Given the description of an element on the screen output the (x, y) to click on. 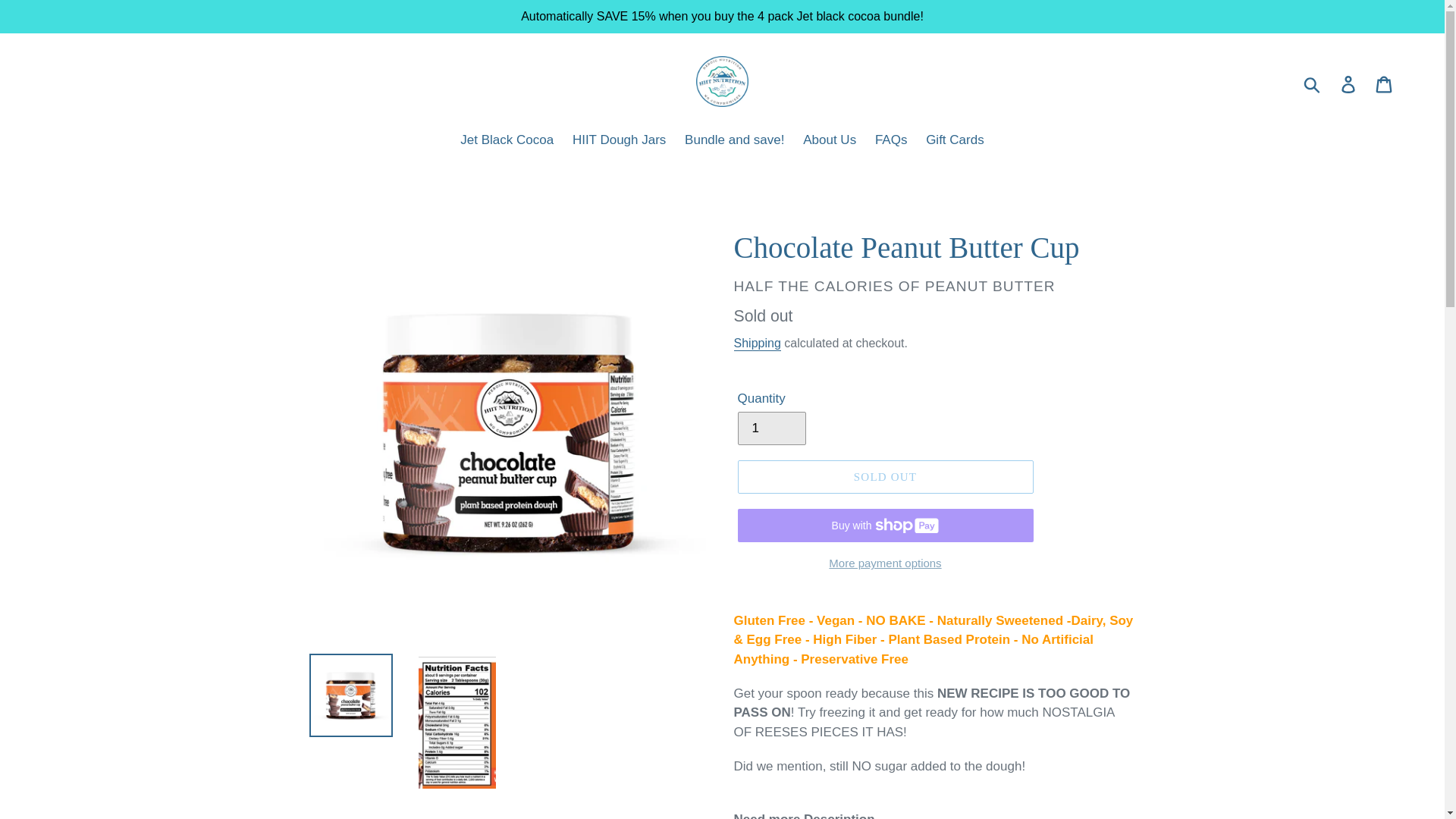
Jet Black Cocoa (506, 141)
Cart (1385, 83)
Gift Cards (954, 141)
HIIT Dough Jars (618, 141)
Bundle and save! (734, 141)
SOLD OUT (884, 476)
Log in (1349, 83)
More payment options (884, 563)
Shipping (756, 343)
FAQs (891, 141)
